Given the description of an element on the screen output the (x, y) to click on. 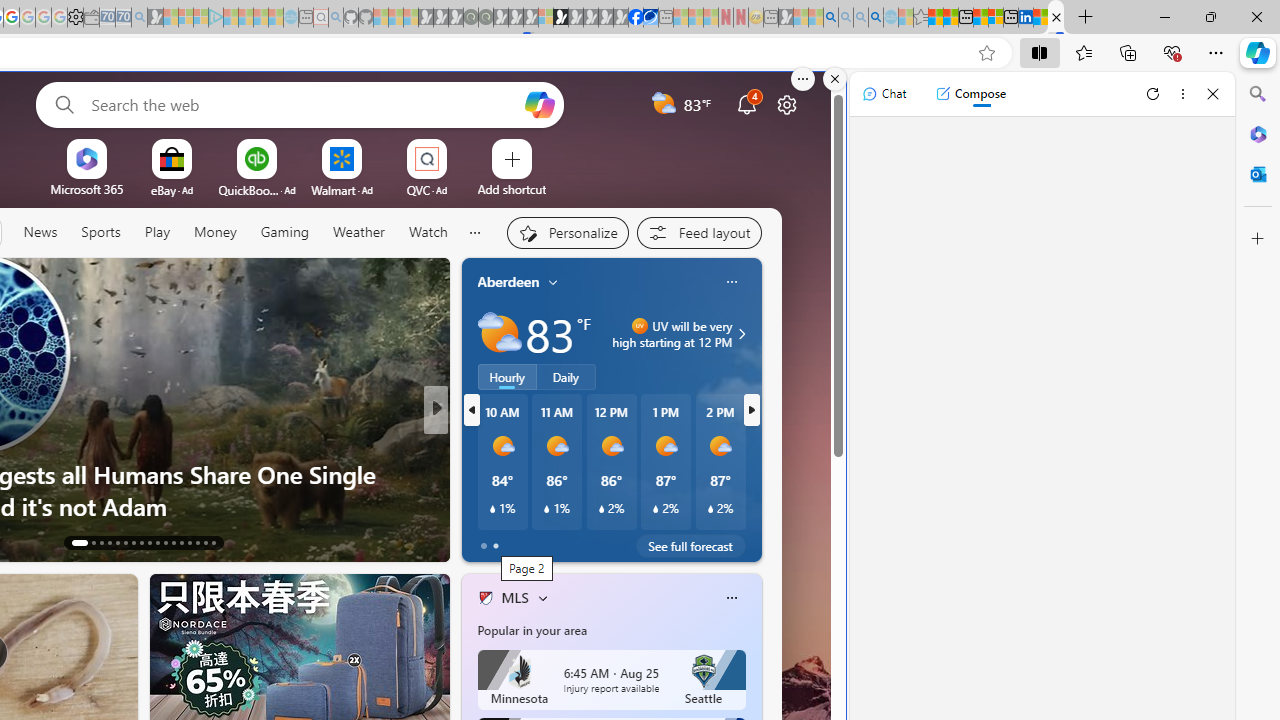
199 Like (490, 541)
View comments 2 Comment (573, 541)
View comments 15 Comment (582, 541)
AutomationID: tab-18 (125, 542)
AQI & Health | AirNow.gov (650, 17)
Play (156, 233)
Microsoft Start Gaming - Sleeping (155, 17)
View comments 10 Comment (574, 541)
Daily (566, 377)
tab-0 (483, 545)
